Given the description of an element on the screen output the (x, y) to click on. 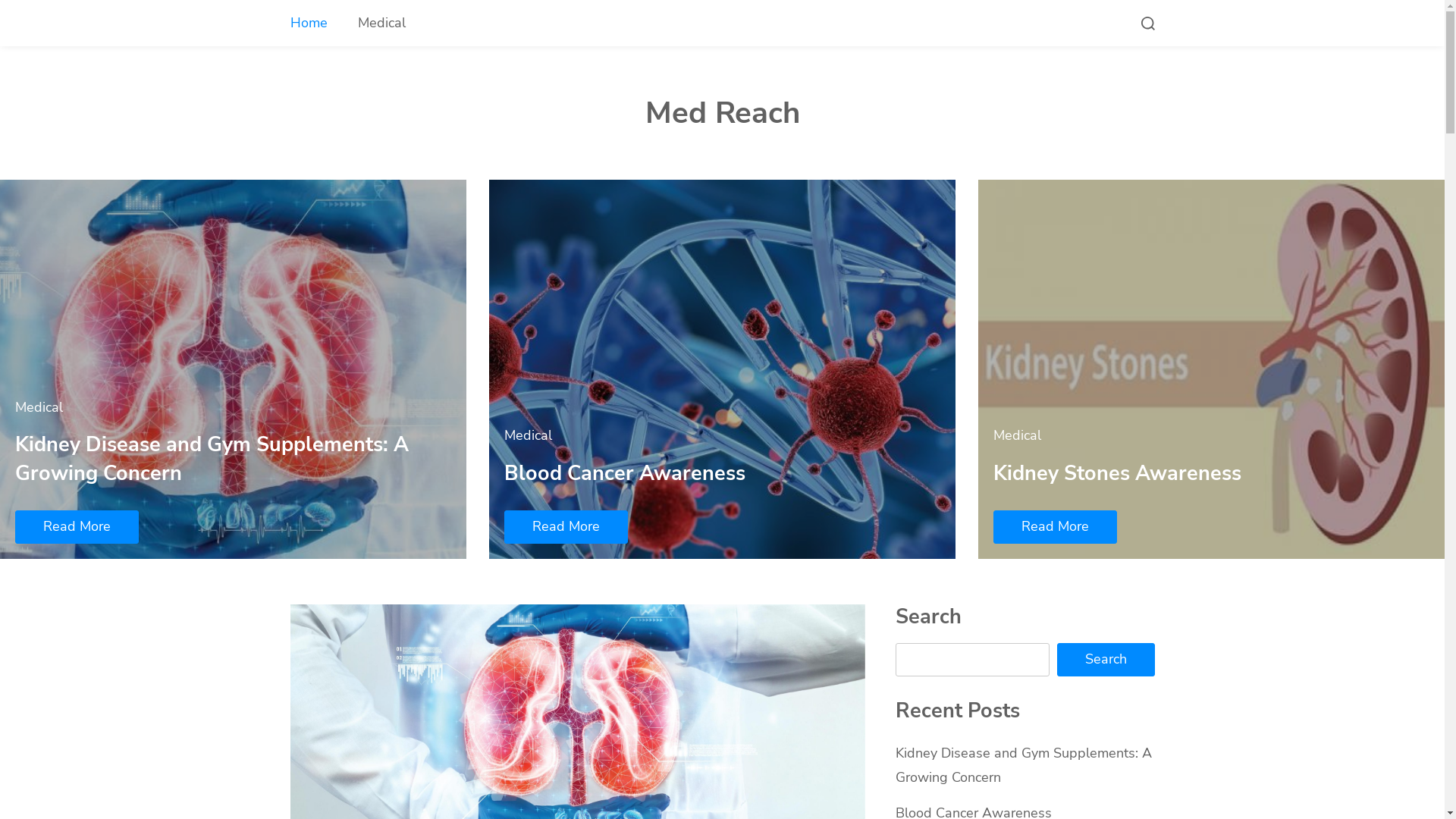
Medical Element type: text (528, 435)
Search Element type: text (1105, 659)
Medical Element type: text (38, 407)
Kidney Disease and Gym Supplements: A Growing Concern Element type: text (1022, 764)
Blood Cancer Awareness Element type: text (624, 472)
Kidney Disease and Gym Supplements: A Growing Concern Element type: text (211, 458)
Medical Element type: text (1017, 435)
Medical Element type: text (381, 23)
Read More Element type: text (76, 526)
Med Reach Element type: text (721, 112)
Read More Element type: text (565, 526)
Read More Element type: text (1055, 526)
Home Element type: text (308, 23)
Kidney Stones Awareness Element type: text (1117, 472)
